Given the description of an element on the screen output the (x, y) to click on. 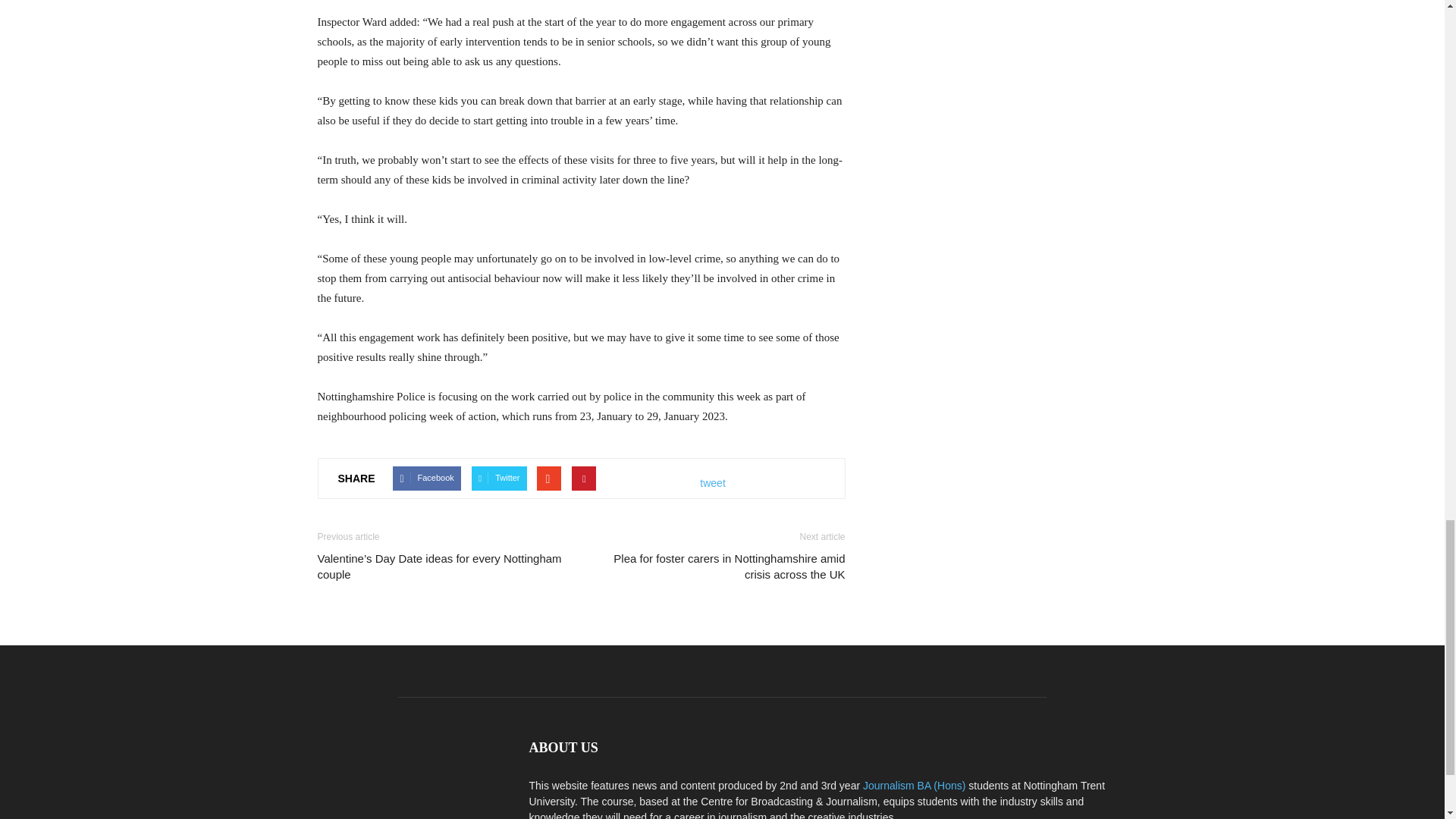
Facebook (426, 478)
tweet (712, 483)
Twitter (499, 478)
